Given the description of an element on the screen output the (x, y) to click on. 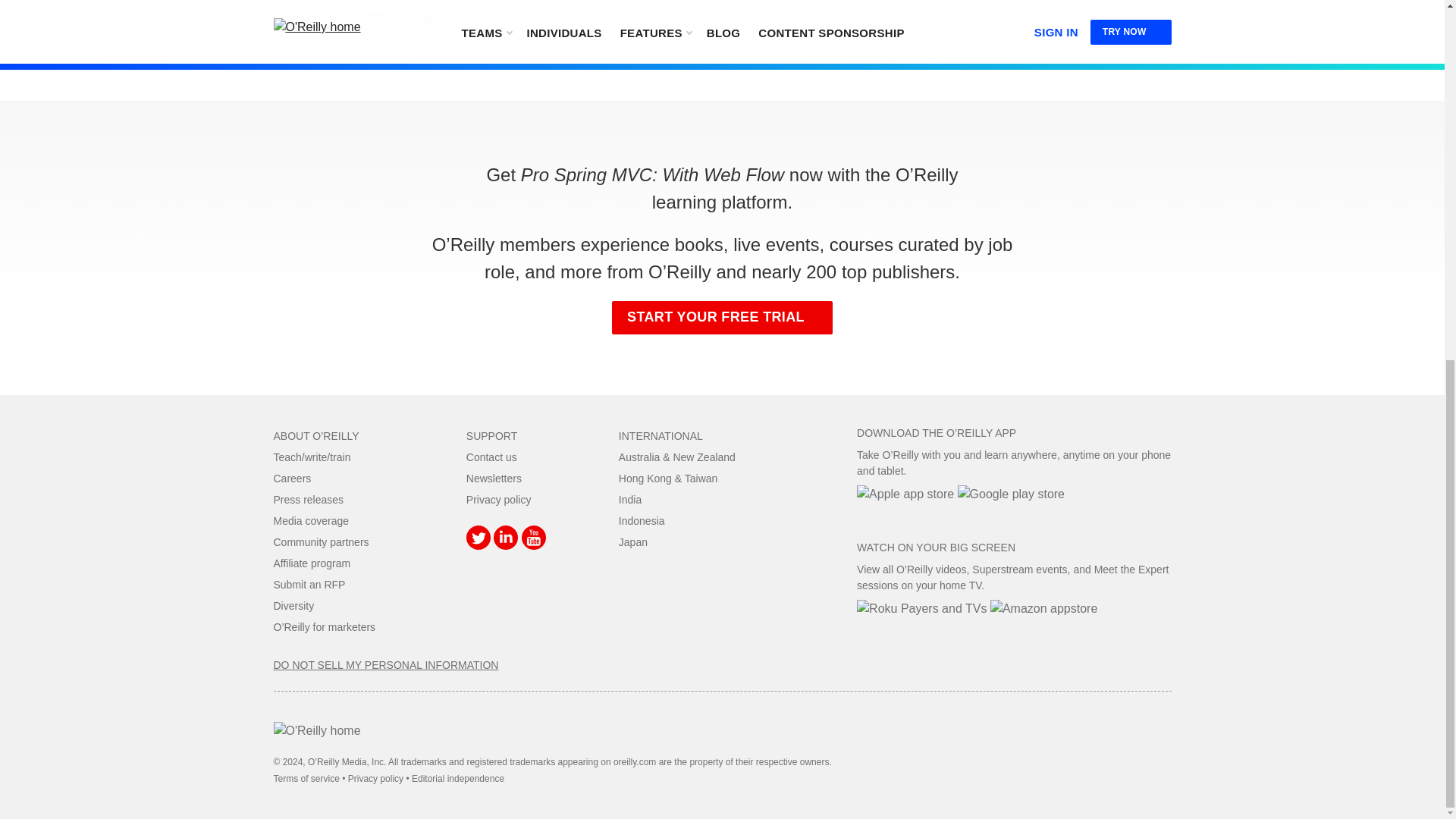
Press releases (308, 499)
Community partners (320, 541)
Diversity (293, 605)
Affiliate program (311, 563)
Media coverage (311, 521)
SUPPORT (490, 435)
Newsletters (493, 478)
home page (316, 730)
START YOUR FREE TRIAL (721, 317)
Privacy policy (498, 499)
